Given the description of an element on the screen output the (x, y) to click on. 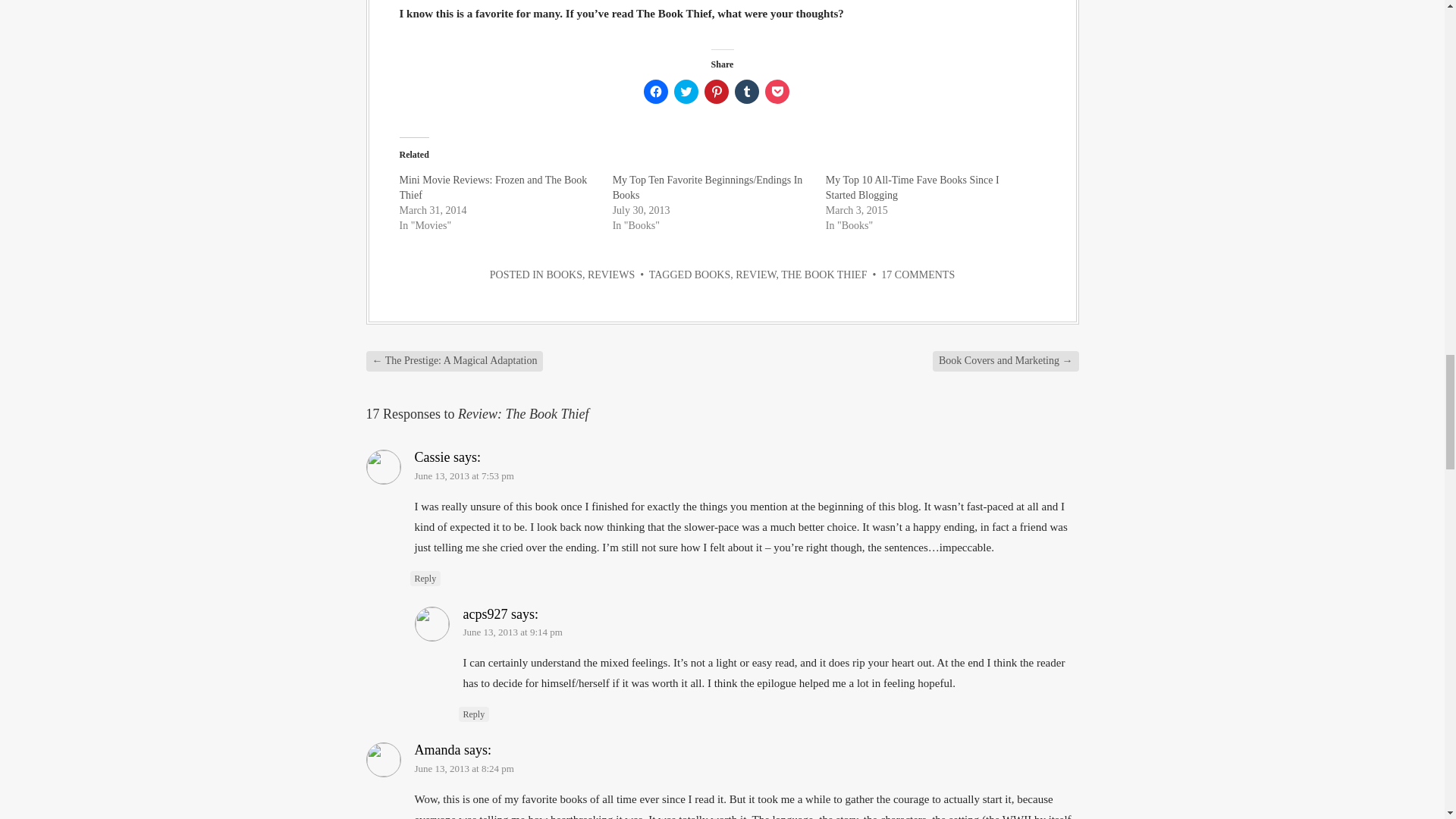
Reply (425, 578)
My Top 10 All-Time Fave Books Since I Started Blogging (911, 187)
My Top 10 All-Time Fave Books Since I Started Blogging (911, 187)
June 13, 2013 at 9:14 pm (512, 632)
Click to share on Twitter (684, 91)
Mini Movie Reviews: Frozen and The Book Thief (492, 187)
Cassie (431, 457)
17 COMMENTS (917, 274)
Click to share on Pocket (776, 91)
acps927 (484, 613)
Click to share on Facebook (654, 91)
THE BOOK THIEF (823, 274)
Click to share on Pinterest (715, 91)
BOOKS (563, 274)
Mini Movie Reviews: Frozen and The Book Thief (492, 187)
